Given the description of an element on the screen output the (x, y) to click on. 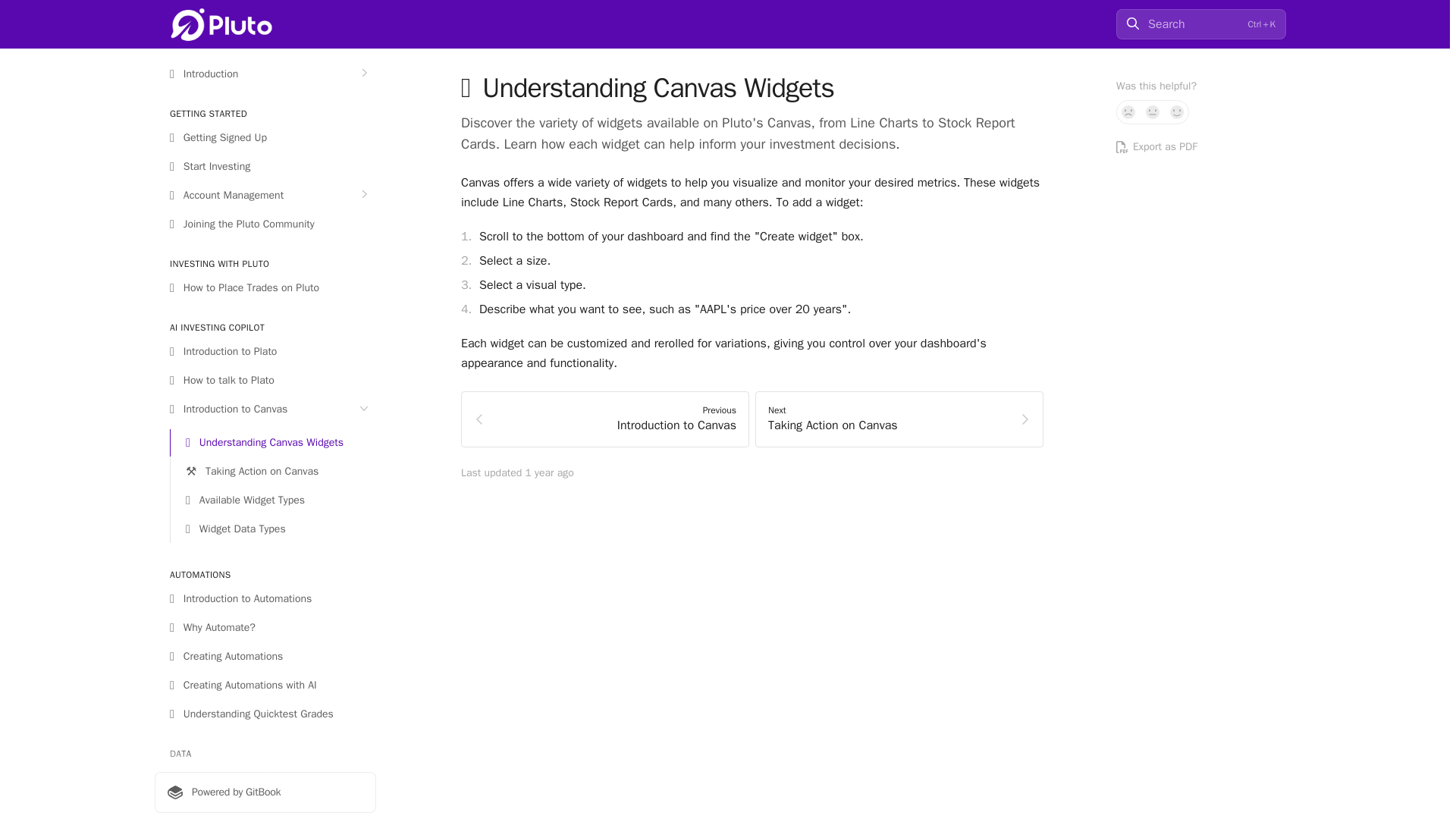
Not sure (1152, 111)
No (899, 419)
Export as PDF (1128, 111)
Yes, it was! (605, 419)
Powered by GitBook (1200, 146)
